Given the description of an element on the screen output the (x, y) to click on. 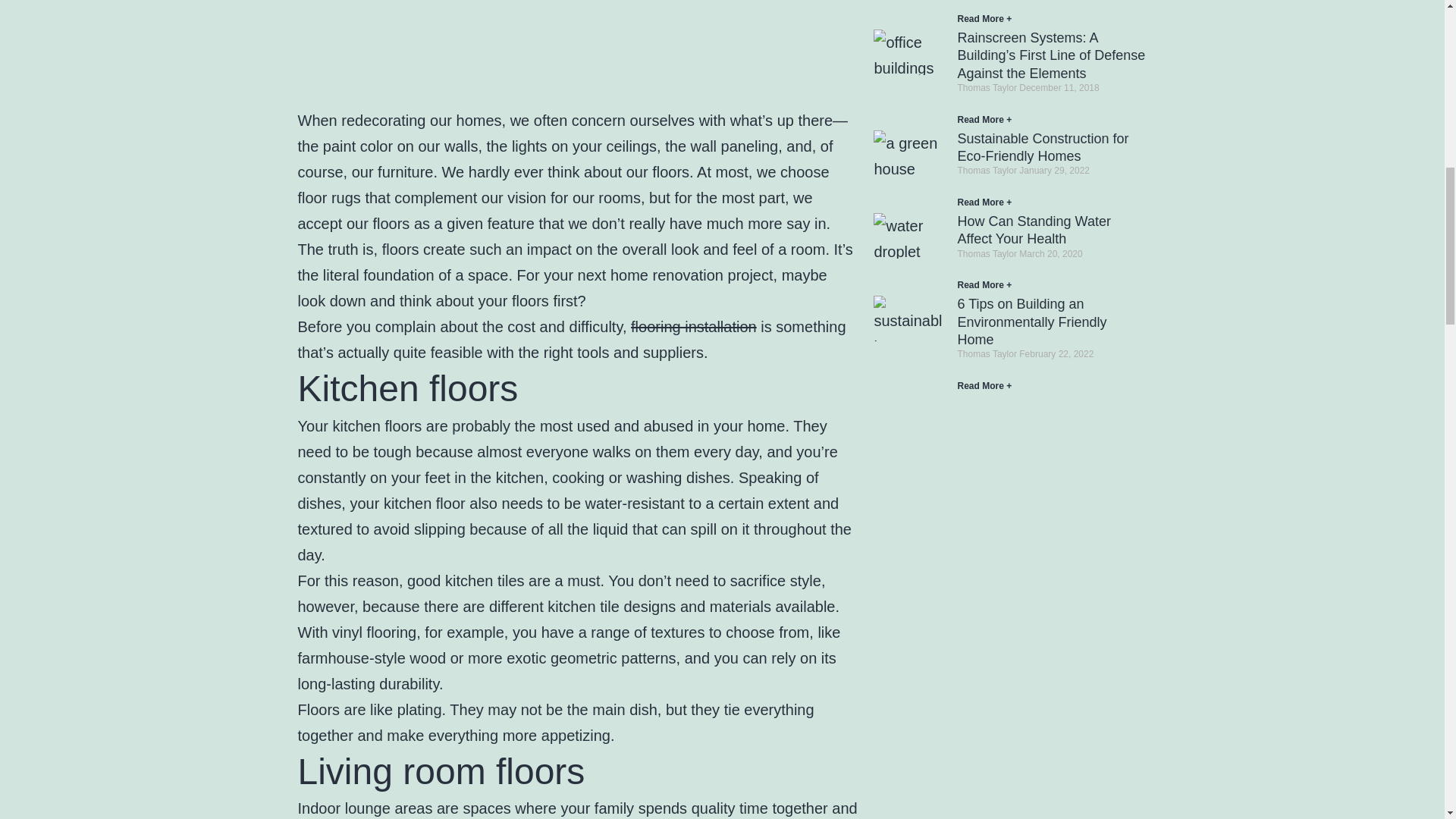
Sustainable Construction for Eco-Friendly Homes (1042, 147)
6 Tips on Building an Environmentally Friendly Home (1031, 321)
How Can Standing Water Affect Your Health (1032, 229)
flooring installation (693, 326)
